Given the description of an element on the screen output the (x, y) to click on. 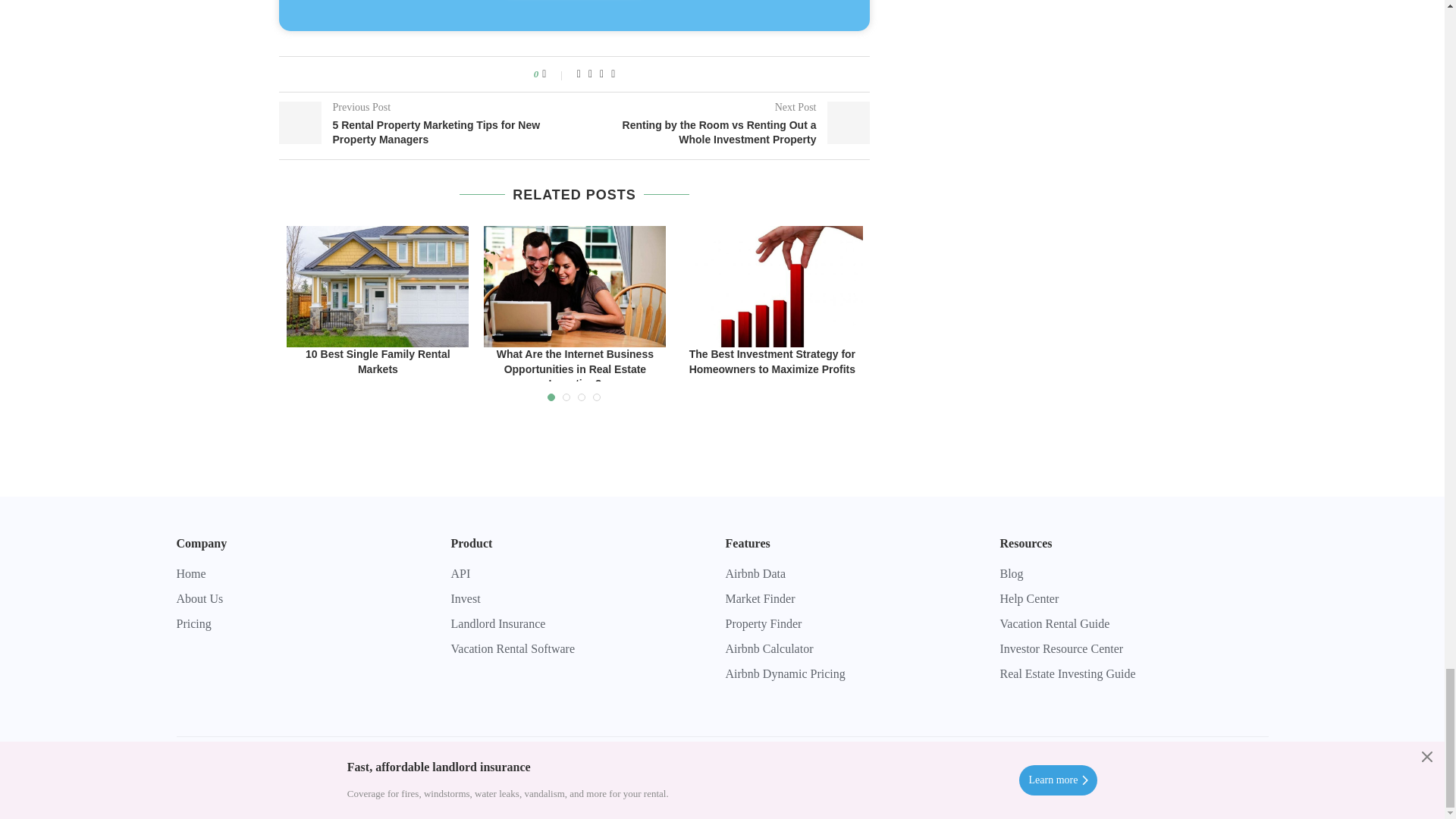
10 Best Single Family Rental Markets (377, 286)
Like (553, 73)
